Given the description of an element on the screen output the (x, y) to click on. 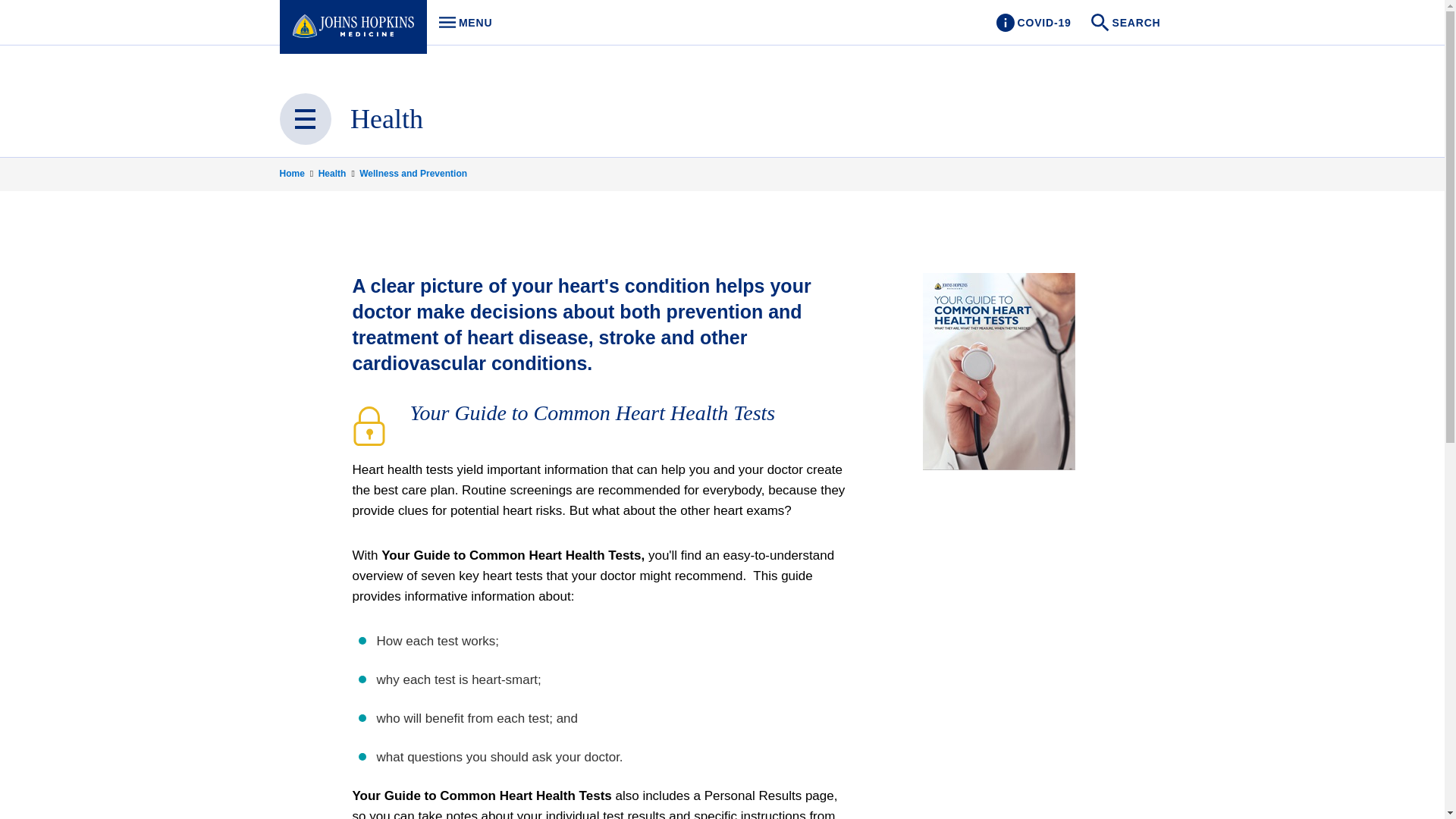
Health (386, 119)
Health (337, 173)
Wellness and Prevention (413, 173)
SEARCH (1126, 22)
COVID-19 (1033, 22)
Close Main Menu (304, 118)
Home (296, 173)
Submit (461, 22)
